Given the description of an element on the screen output the (x, y) to click on. 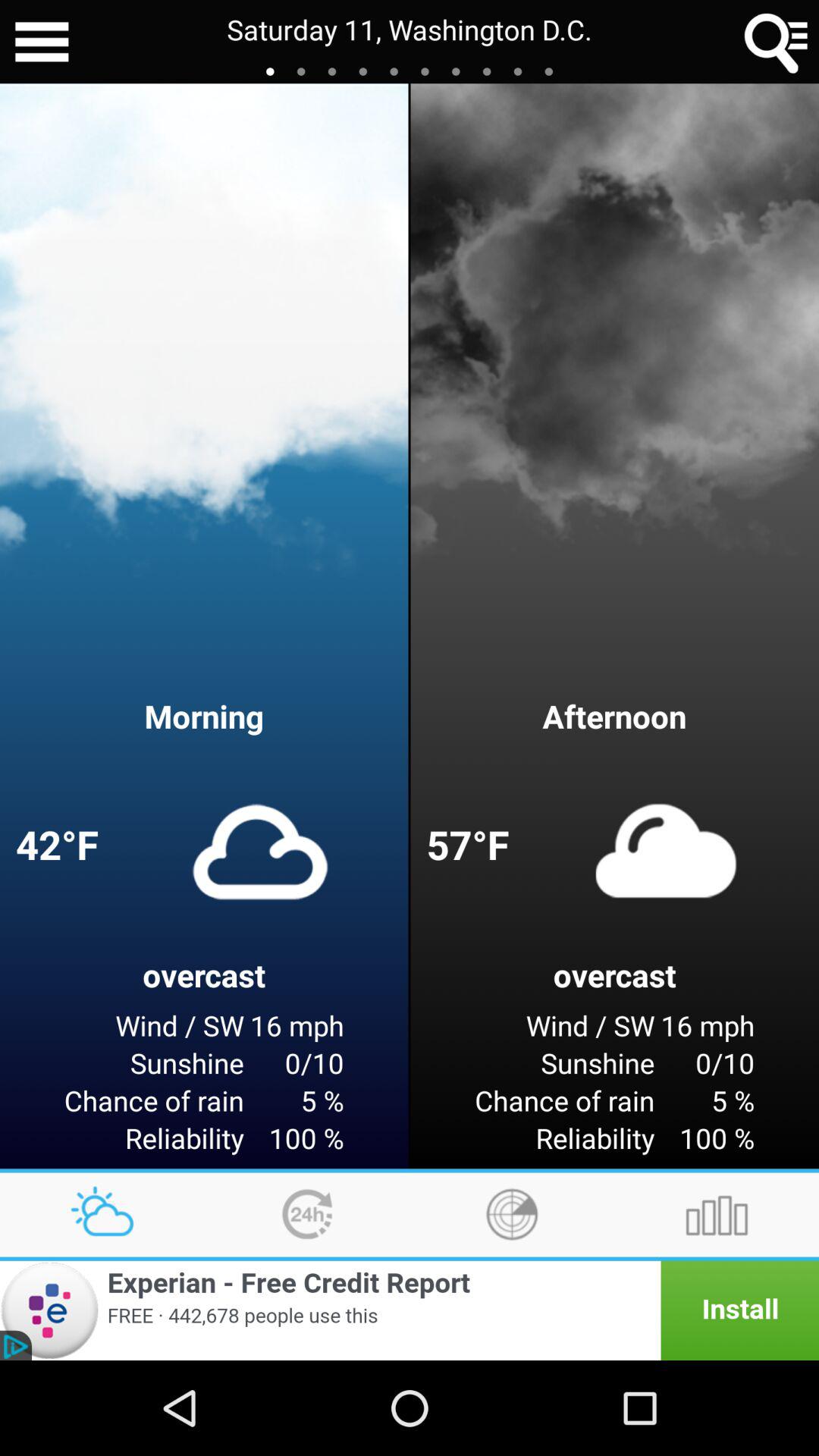
the menu option (41, 41)
